Given the description of an element on the screen output the (x, y) to click on. 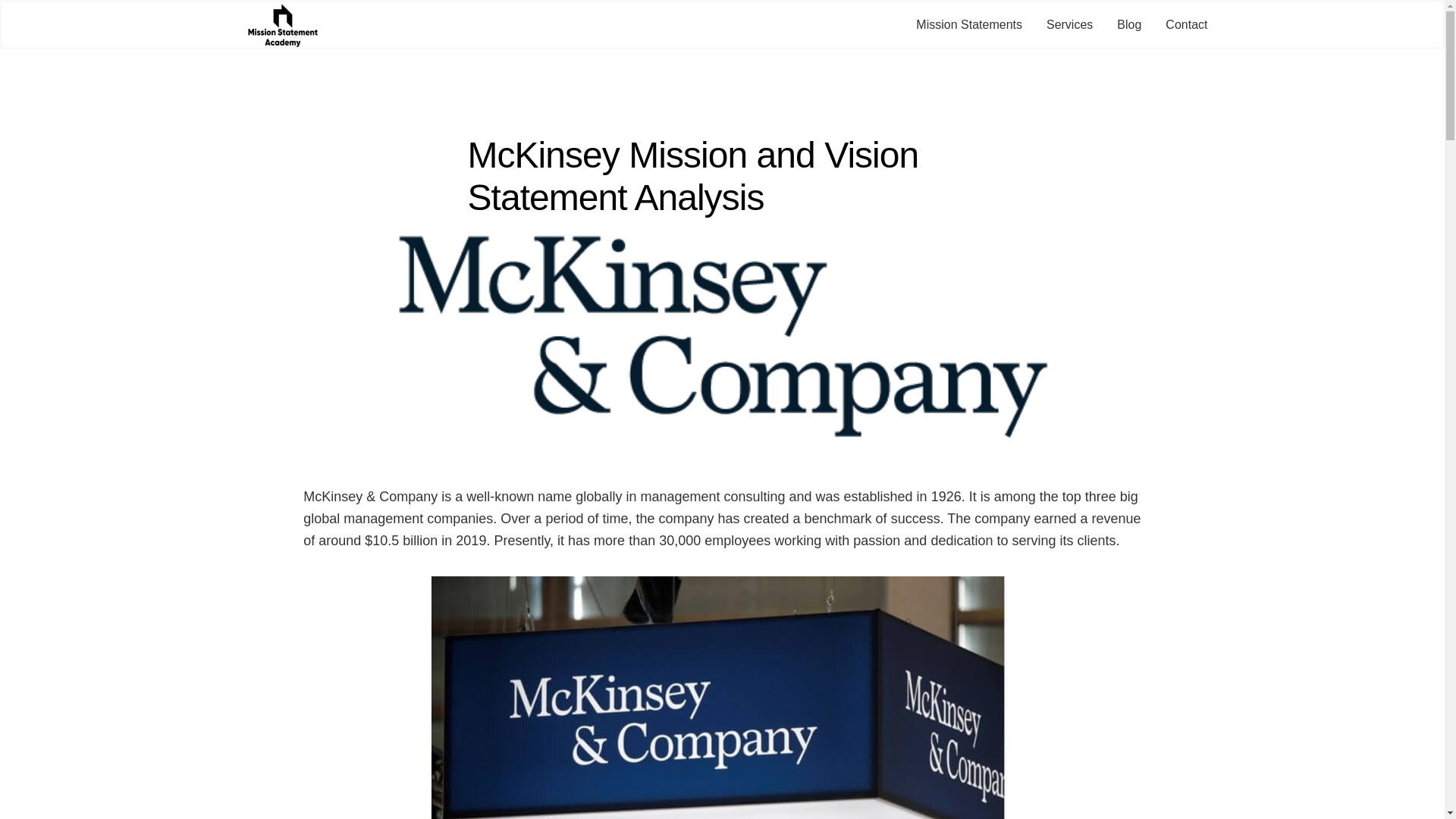
Services (1069, 25)
Contact (1186, 25)
Blog (1128, 25)
Mission Statements (968, 25)
